Given the description of an element on the screen output the (x, y) to click on. 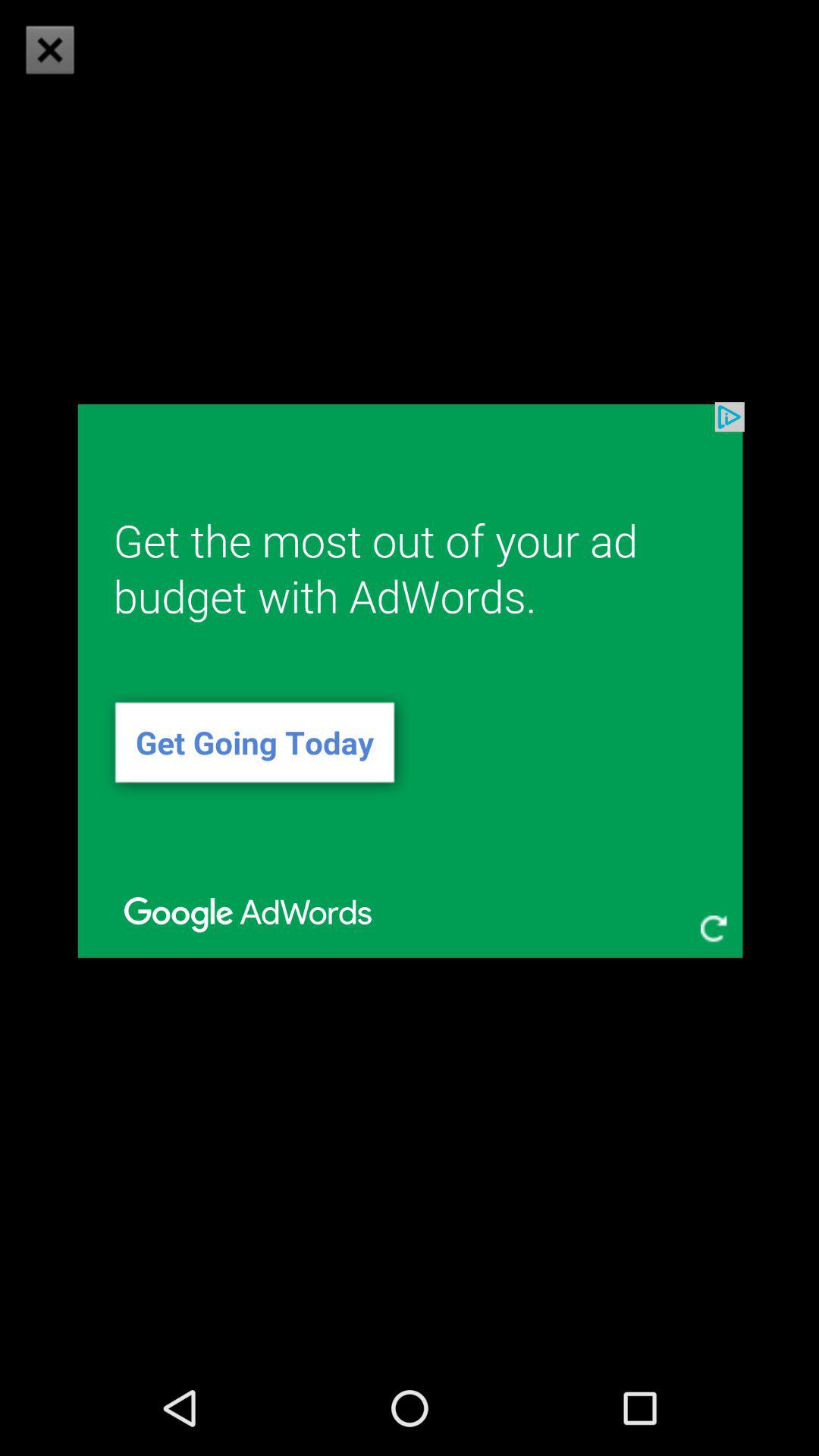
click icon at the top left corner (49, 49)
